Given the description of an element on the screen output the (x, y) to click on. 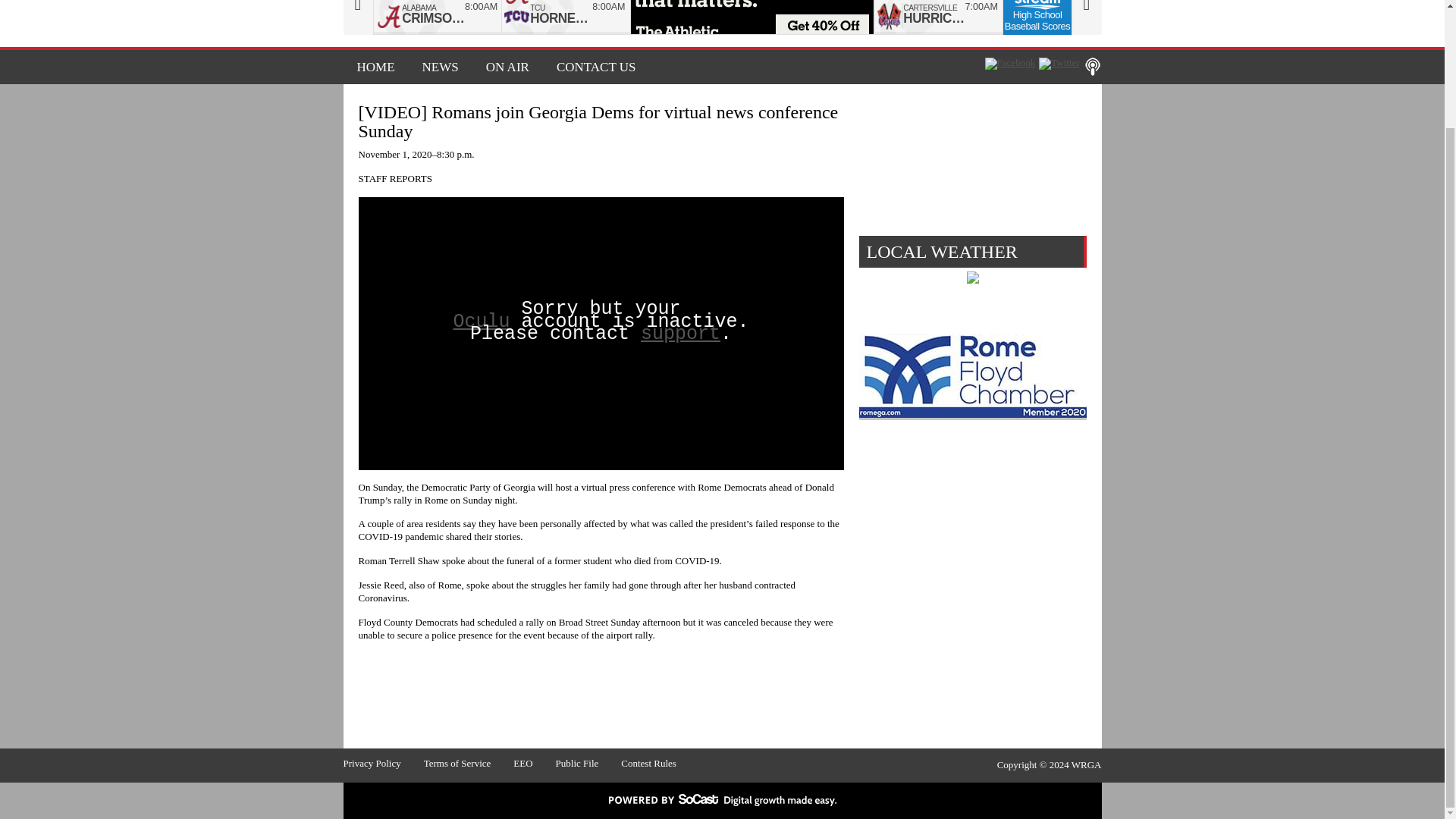
Powered By SoCast (721, 802)
Oculu (480, 321)
HOME (374, 66)
Public File (588, 763)
Terms of Service (468, 763)
Facebook (1010, 63)
support (680, 333)
Podcasts (1091, 66)
NEWS (440, 66)
Contest Rules (659, 763)
Privacy Policy (382, 763)
Twitter (1058, 63)
EEO (533, 763)
Powered By SoCast (721, 799)
ON AIR (507, 66)
